Given the description of an element on the screen output the (x, y) to click on. 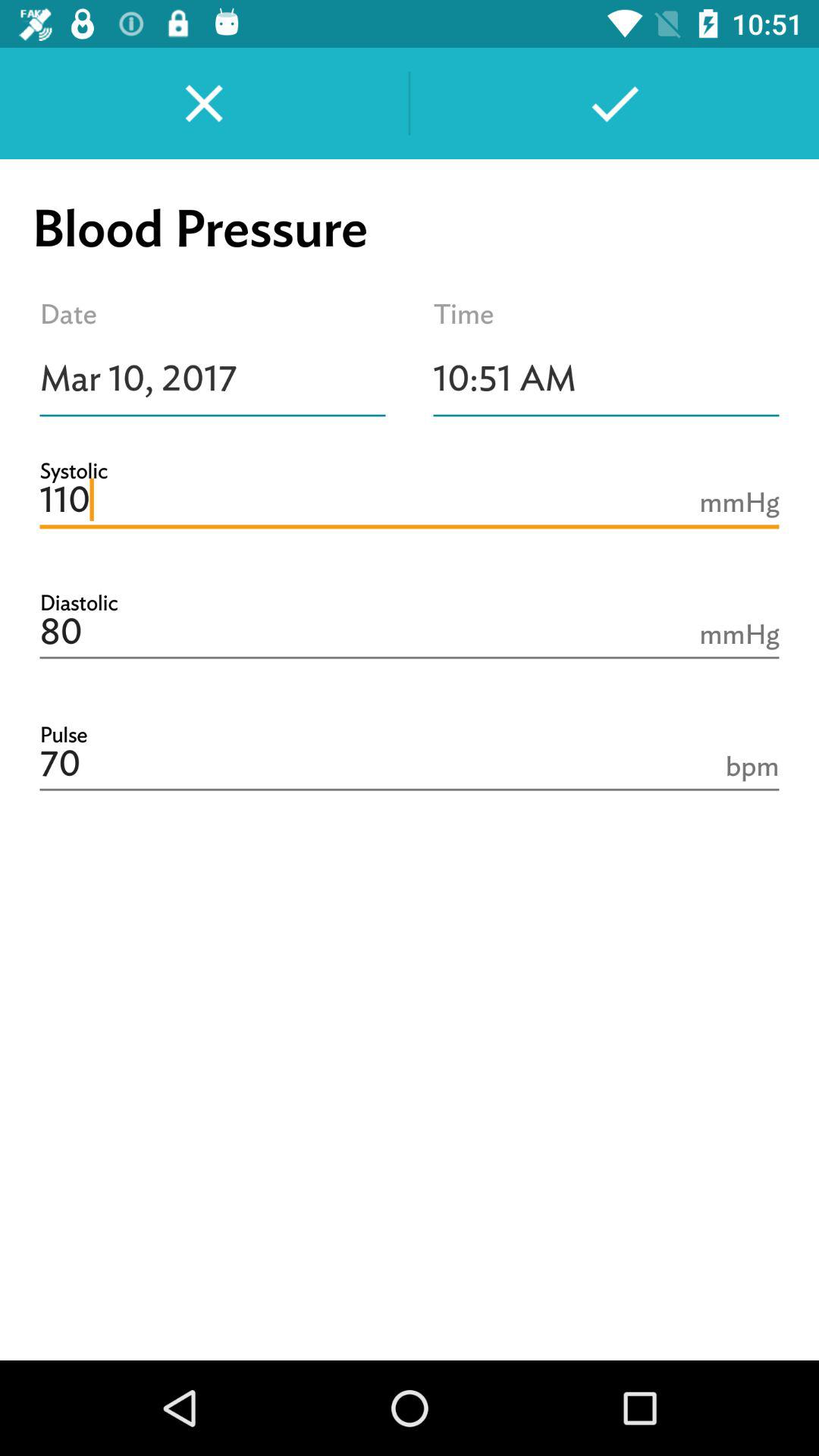
tap the 70 icon (409, 764)
